Given the description of an element on the screen output the (x, y) to click on. 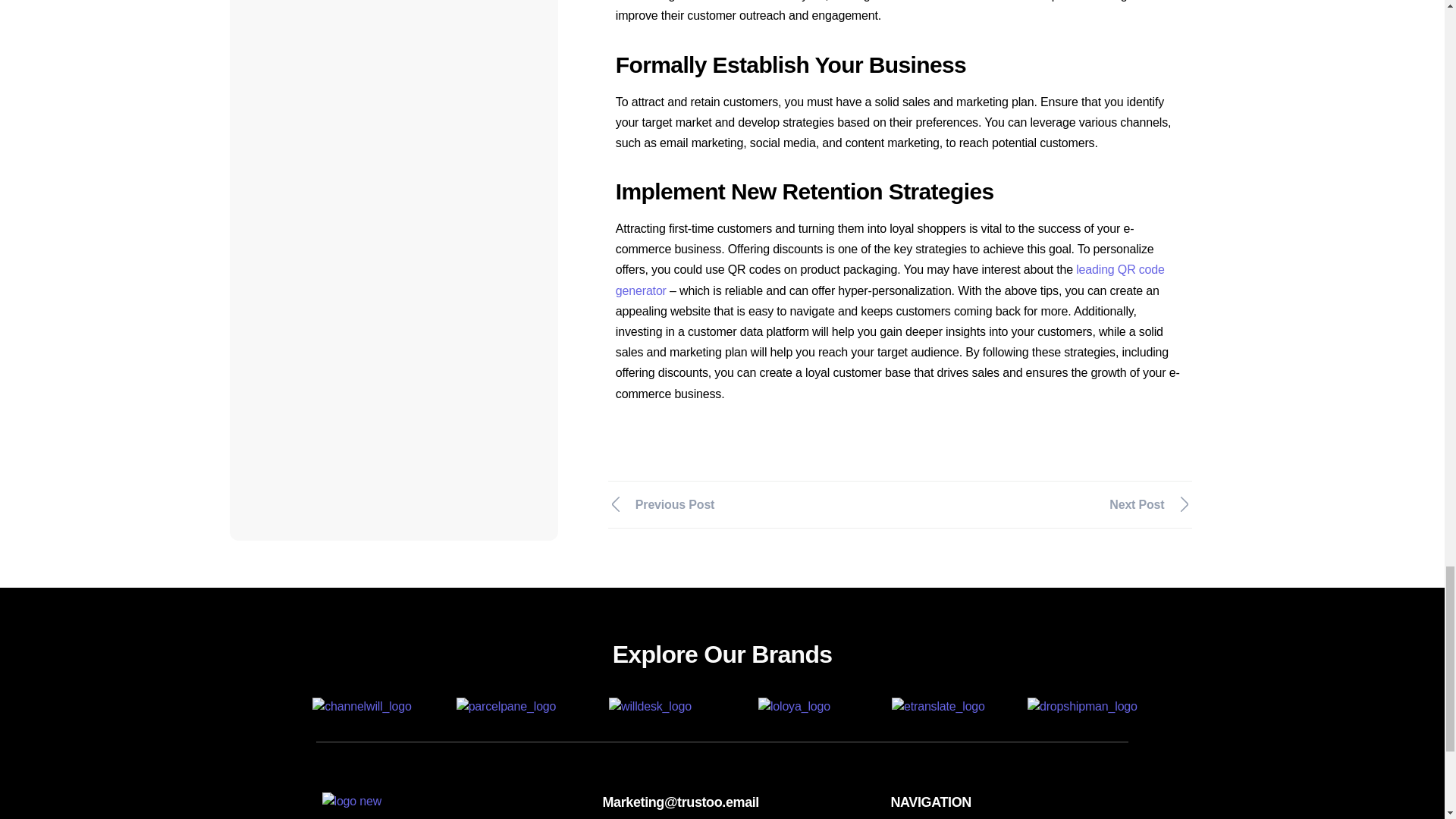
logo new (351, 805)
Previous Post (748, 504)
leading QR code generator (889, 279)
Next Post (1052, 504)
